Given the description of an element on the screen output the (x, y) to click on. 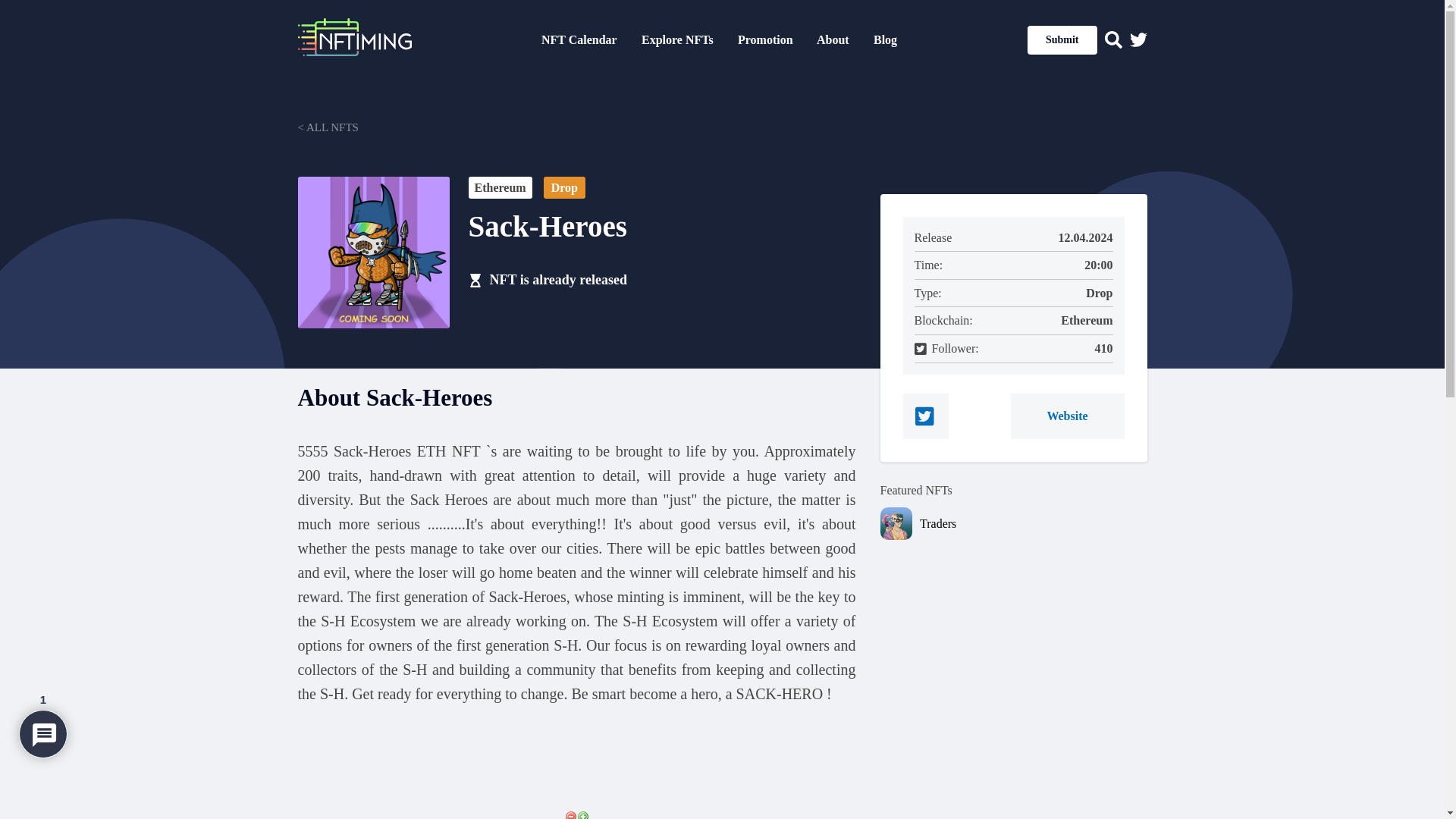
Submit (1062, 39)
Blog (884, 39)
Vote Down (570, 814)
Traders (1033, 523)
Promotion (765, 40)
NFT Calendar (579, 40)
Website (1067, 415)
Vote Up (582, 814)
